Given the description of an element on the screen output the (x, y) to click on. 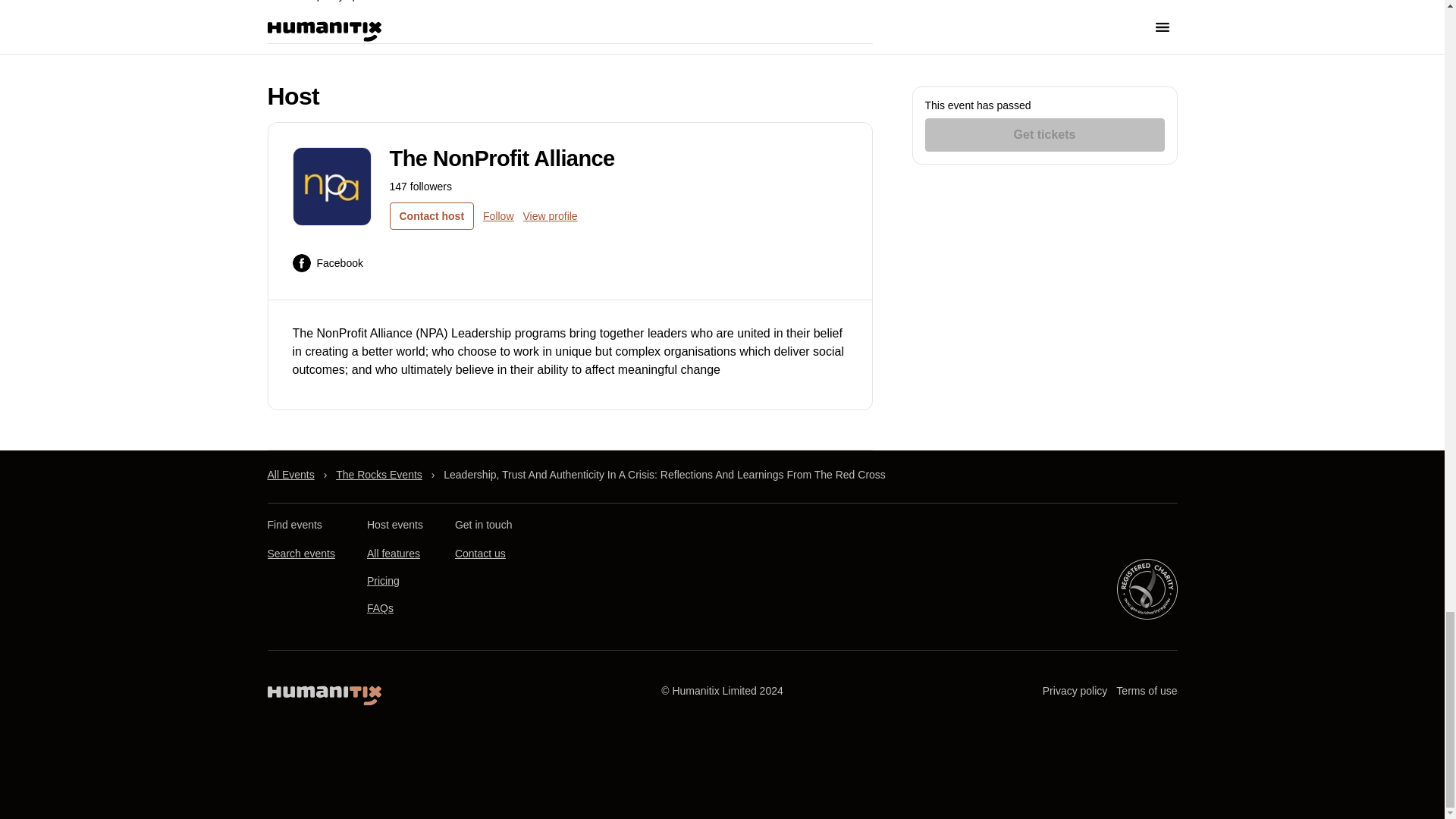
All features (393, 554)
Privacy policy (1075, 690)
Pricing (382, 581)
View profile (550, 216)
Contact host (432, 216)
Terms of use (1146, 690)
All Events (290, 474)
Search events (300, 554)
Contact us (479, 554)
